Given the description of an element on the screen output the (x, y) to click on. 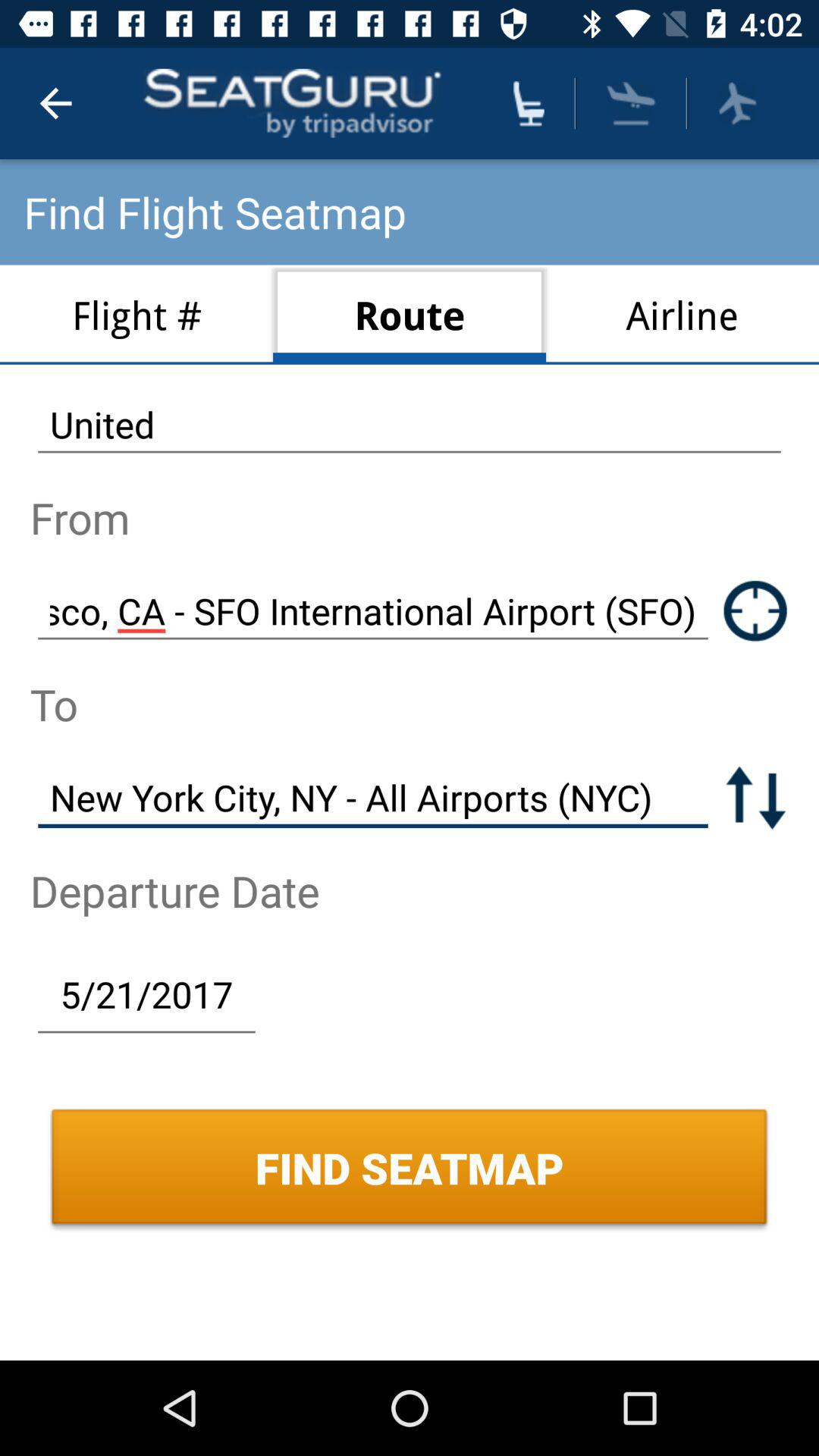
share location (755, 610)
